Given the description of an element on the screen output the (x, y) to click on. 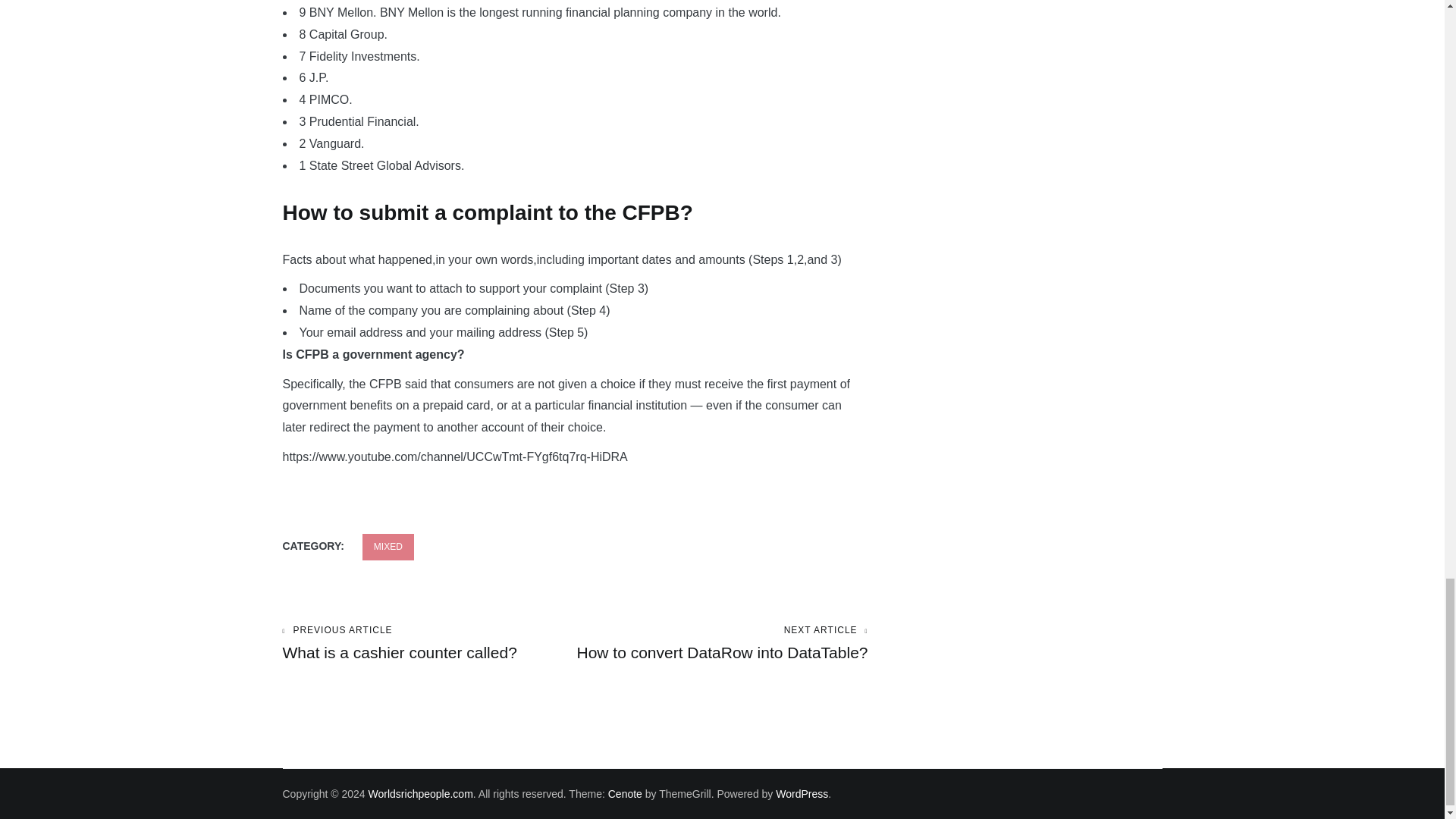
Worldsrichpeople.com (420, 793)
MIXED (428, 642)
